Given the description of an element on the screen output the (x, y) to click on. 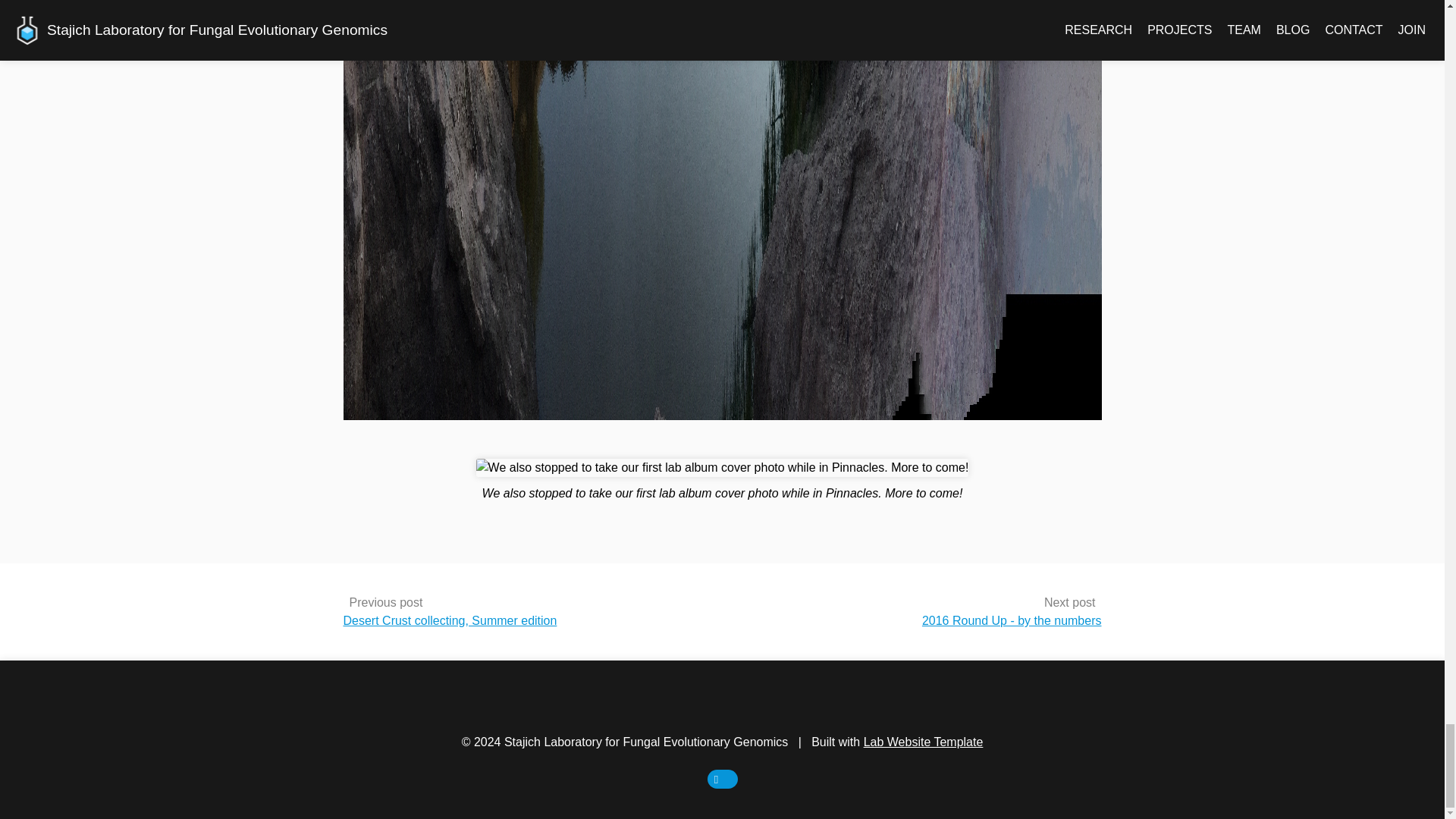
Lab Website Template (923, 741)
2016 Round Up - by the numbers (1011, 620)
on (721, 778)
Desert Crust collecting, Summer edition (449, 620)
